Given the description of an element on the screen output the (x, y) to click on. 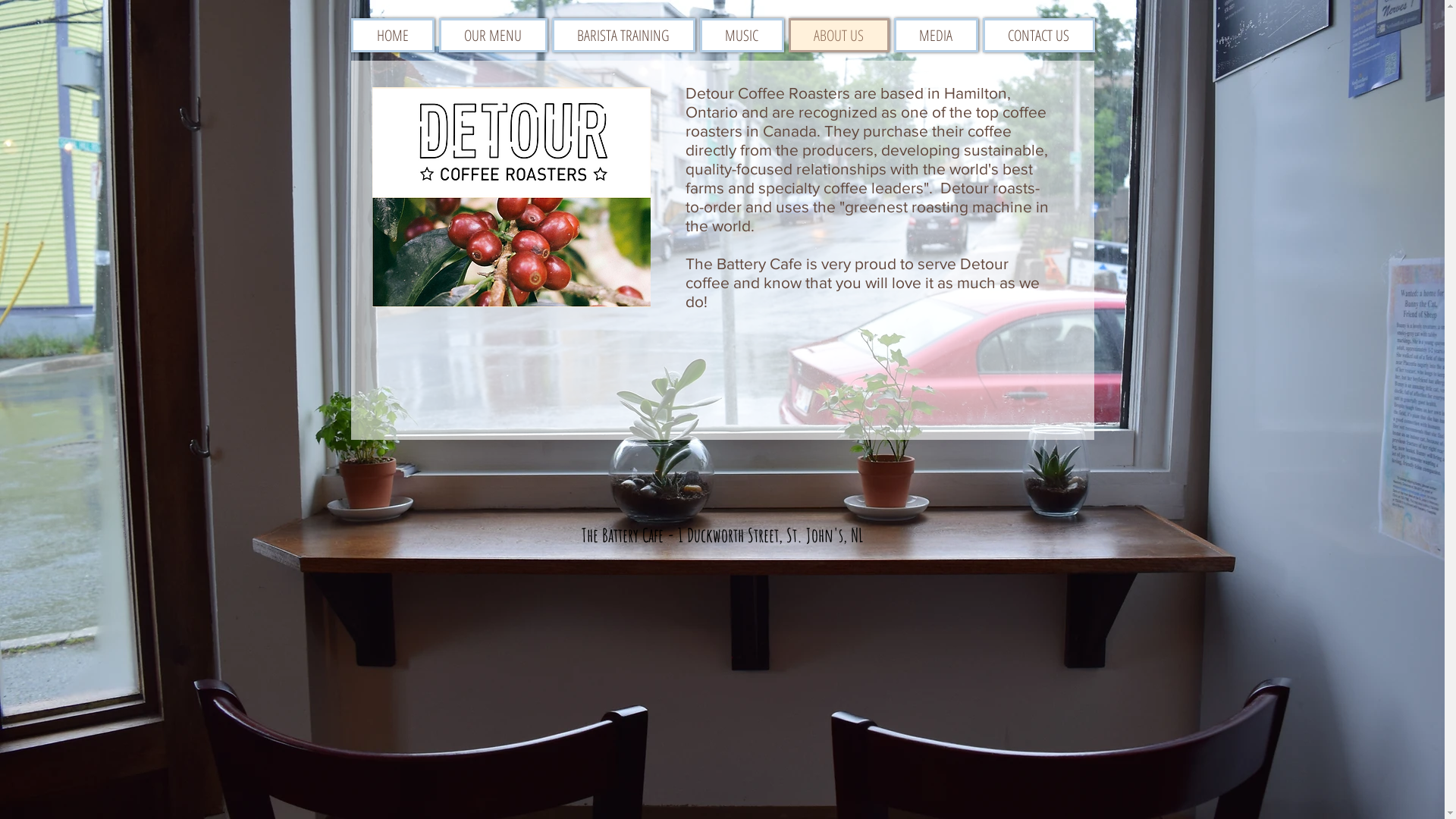
BARISTA TRAINING Element type: text (623, 35)
MUSIC Element type: text (741, 35)
HOME Element type: text (391, 35)
OUR MENU Element type: text (492, 35)
ABOUT US Element type: text (838, 35)
CONTACT US Element type: text (1038, 35)
MEDIA Element type: text (935, 35)
